Given the description of an element on the screen output the (x, y) to click on. 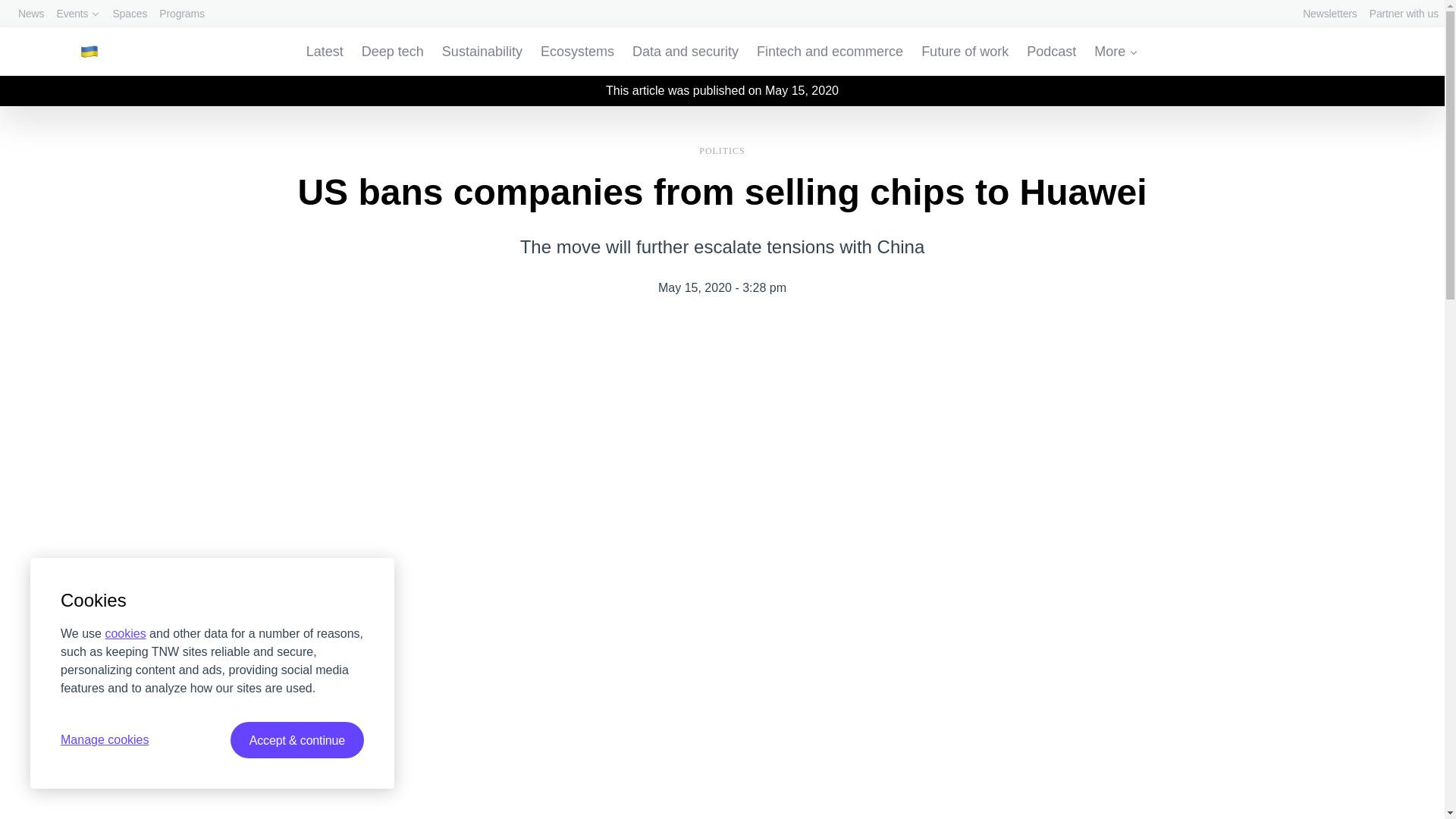
News (30, 13)
POLITICS (721, 149)
Fintech and ecommerce (829, 51)
Spaces (129, 13)
Data and security (684, 51)
Newsletters (1329, 13)
Latest (324, 51)
Deep tech (392, 51)
Podcast (1051, 51)
More (1115, 51)
Future of work (965, 51)
Ecosystems (576, 51)
Partner with us (1404, 13)
Sustainability (482, 51)
Programs (181, 13)
